Given the description of an element on the screen output the (x, y) to click on. 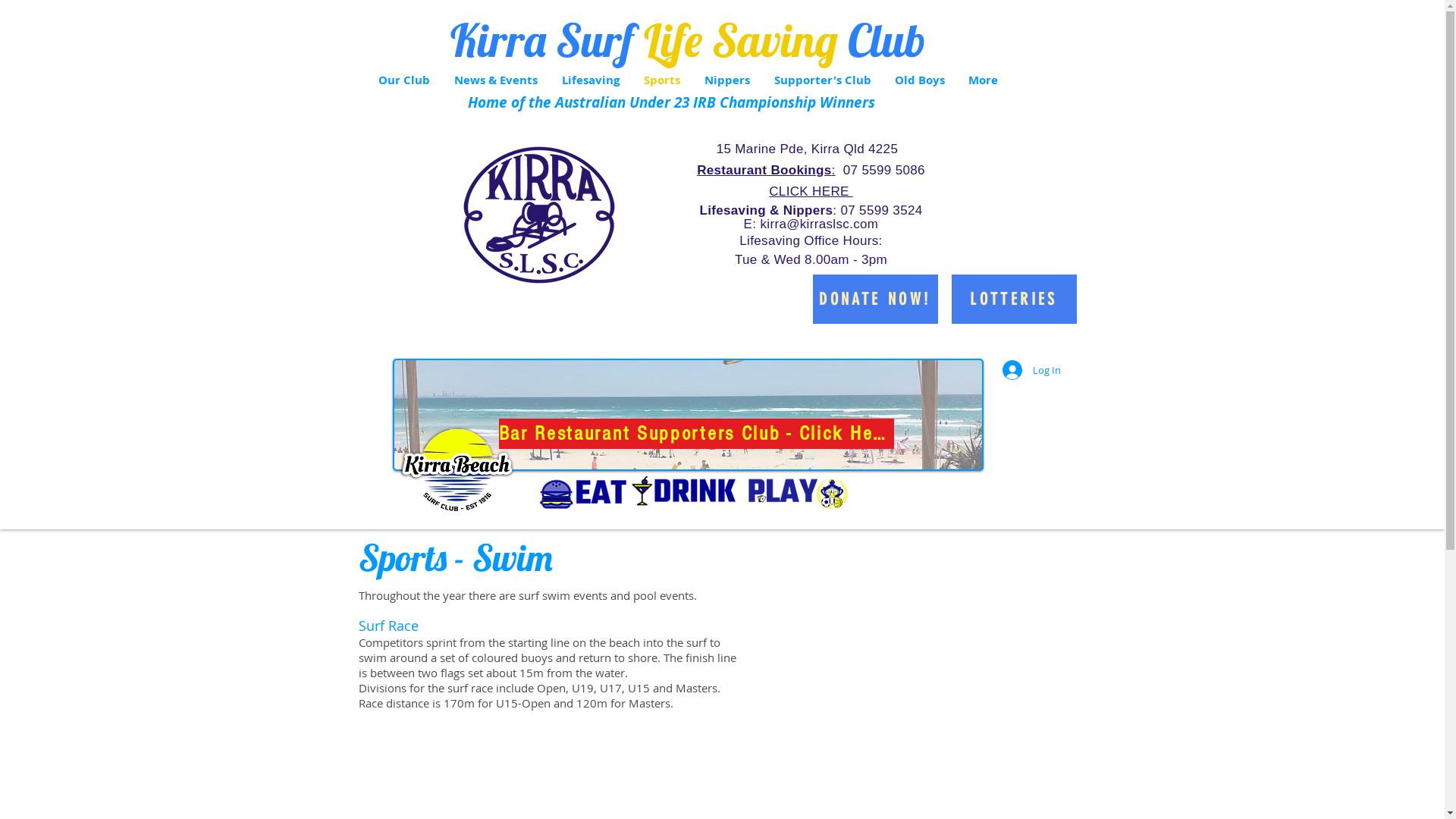
KB-Sup-Main-Logo-Trans-Shadow-instagram1 Element type: hover (456, 465)
LOTTERIES Element type: text (1013, 298)
News & Events Element type: text (495, 80)
CLICK HERE  Element type: text (810, 191)
Sports Element type: text (660, 80)
DONATE NOW! Element type: text (875, 298)
Restaurant Bookings Element type: text (763, 170)
Bar Restaurant Supporters Club - Click Here Element type: text (696, 433)
Log In Element type: text (1031, 369)
Supporter's Club Element type: text (821, 80)
irra@kirraslsc.com Element type: text (822, 223)
Nippers Element type: text (726, 80)
Our Club Element type: text (403, 80)
Lifesaving Element type: text (589, 80)
